Given the description of an element on the screen output the (x, y) to click on. 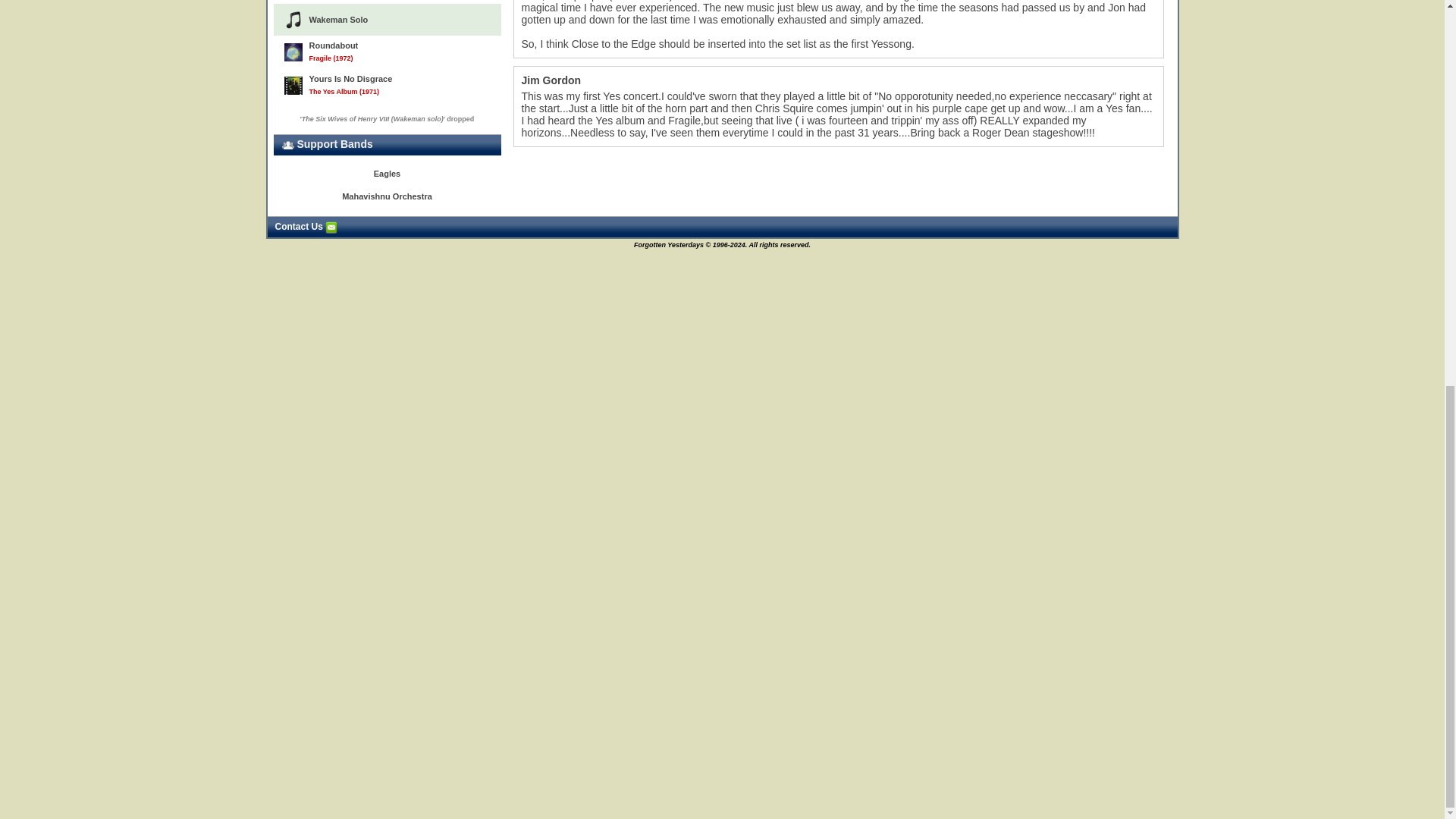
Contact Us (306, 226)
Wakeman Solo (386, 20)
Eagles (387, 174)
support bands (288, 145)
Mahavishnu Orchestra (387, 197)
email (330, 227)
